Given the description of an element on the screen output the (x, y) to click on. 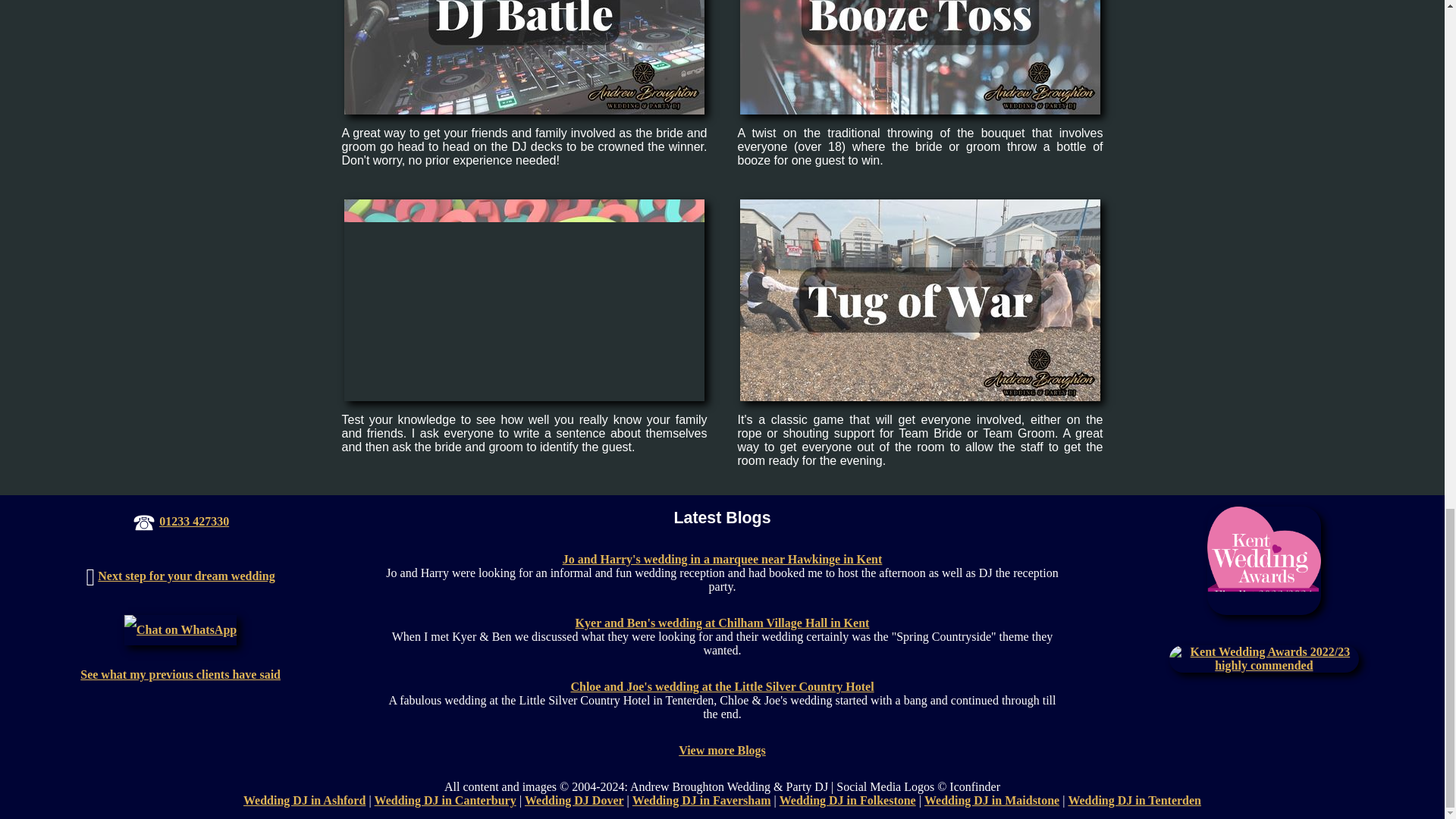
Wedding DJ in Tenterden (1134, 799)
View more Blogs (721, 749)
Wedding DJ in Ashford (304, 799)
Next step for your dream wedding (186, 575)
Chloe and Joe's wedding at the Little Silver Country Hotel (721, 686)
See what my previous clients have said (180, 674)
Wedding DJ in Maidstone (991, 799)
A fun quiz that can be run during the wedding breakfast (523, 300)
Wedding DJ in Canterbury (445, 799)
